Given the description of an element on the screen output the (x, y) to click on. 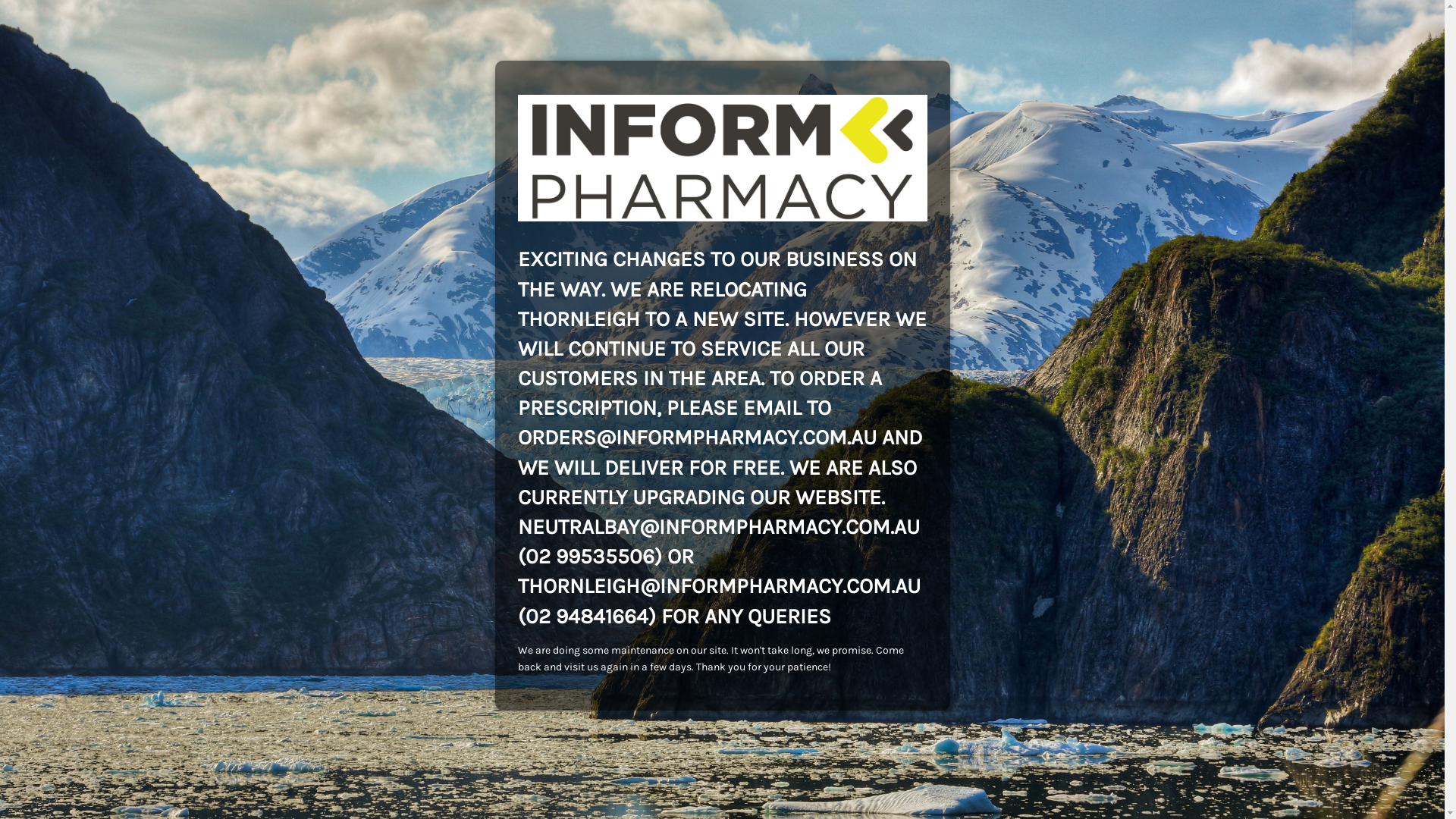
Inform Compounding Pharmacy Element type: hover (721, 157)
